Given the description of an element on the screen output the (x, y) to click on. 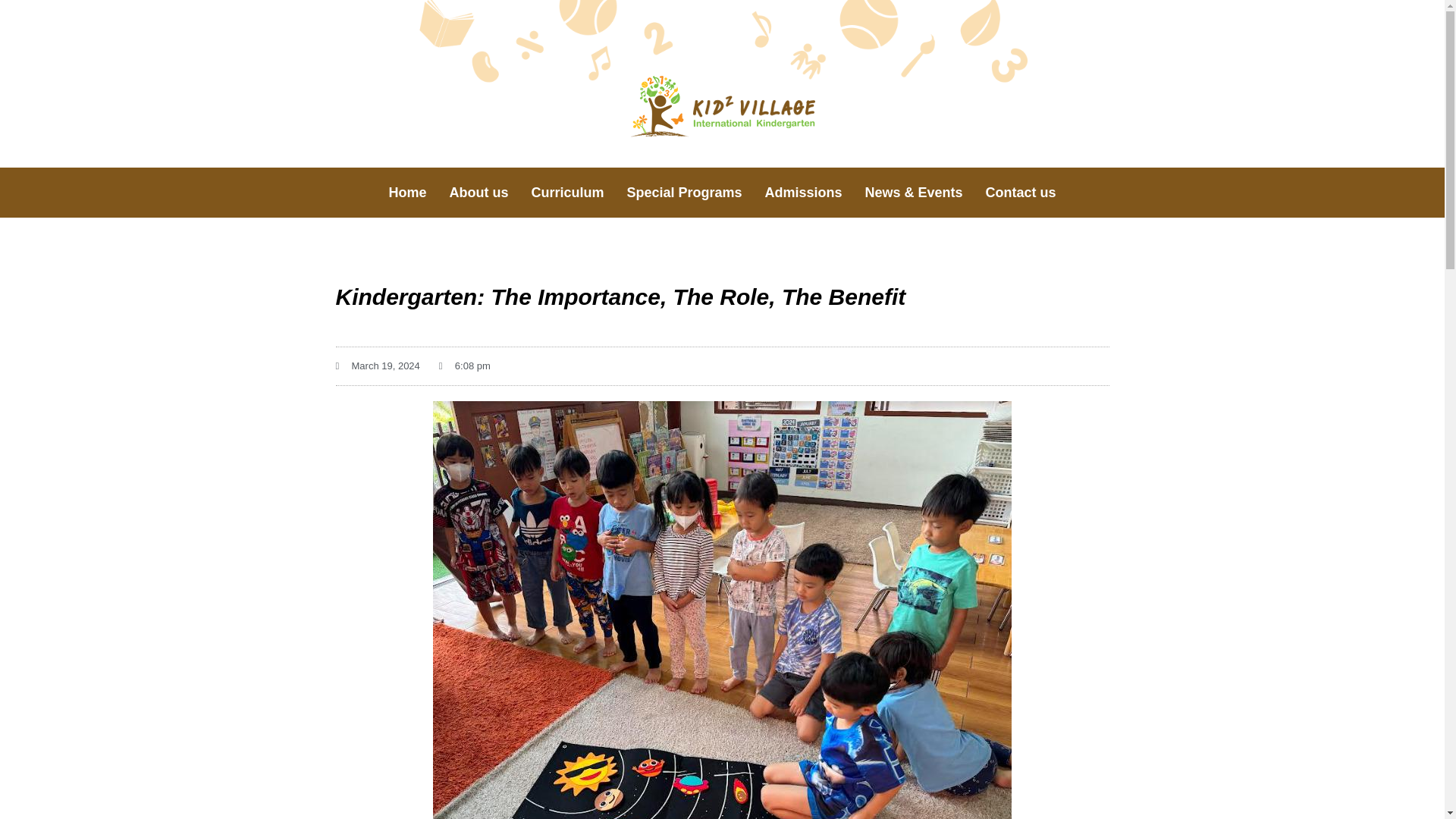
About us (478, 192)
Special Programs (683, 192)
Contact us (1020, 192)
Curriculum (566, 192)
Home (407, 192)
Admissions (803, 192)
